Given the description of an element on the screen output the (x, y) to click on. 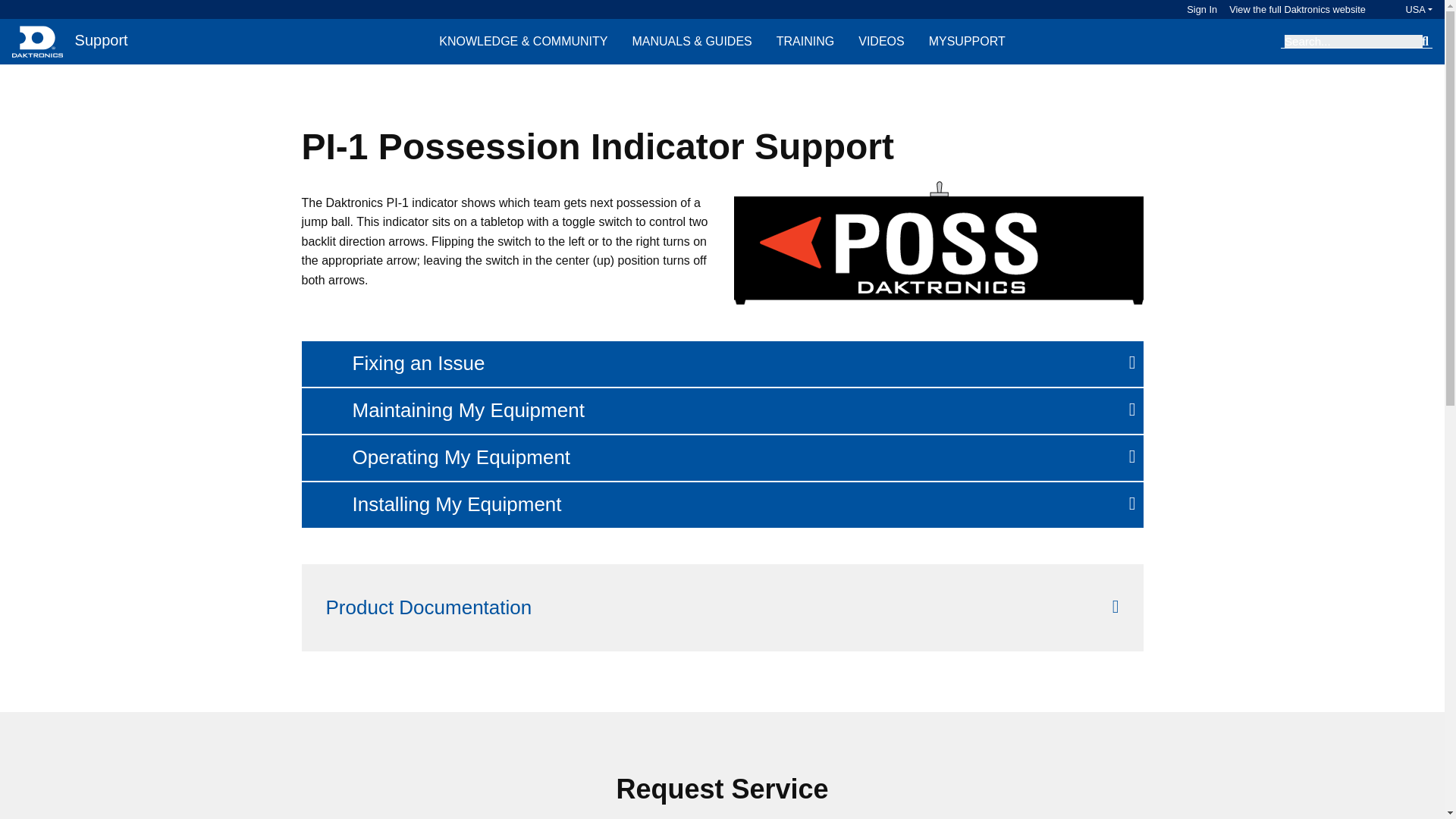
View the full Daktronics website (1291, 9)
MYSUPPORT (967, 41)
VIDEOS (880, 41)
Daktronics (36, 41)
TRAINING (804, 41)
Sign In (1201, 9)
Support (99, 41)
USA (1404, 9)
